Given the description of an element on the screen output the (x, y) to click on. 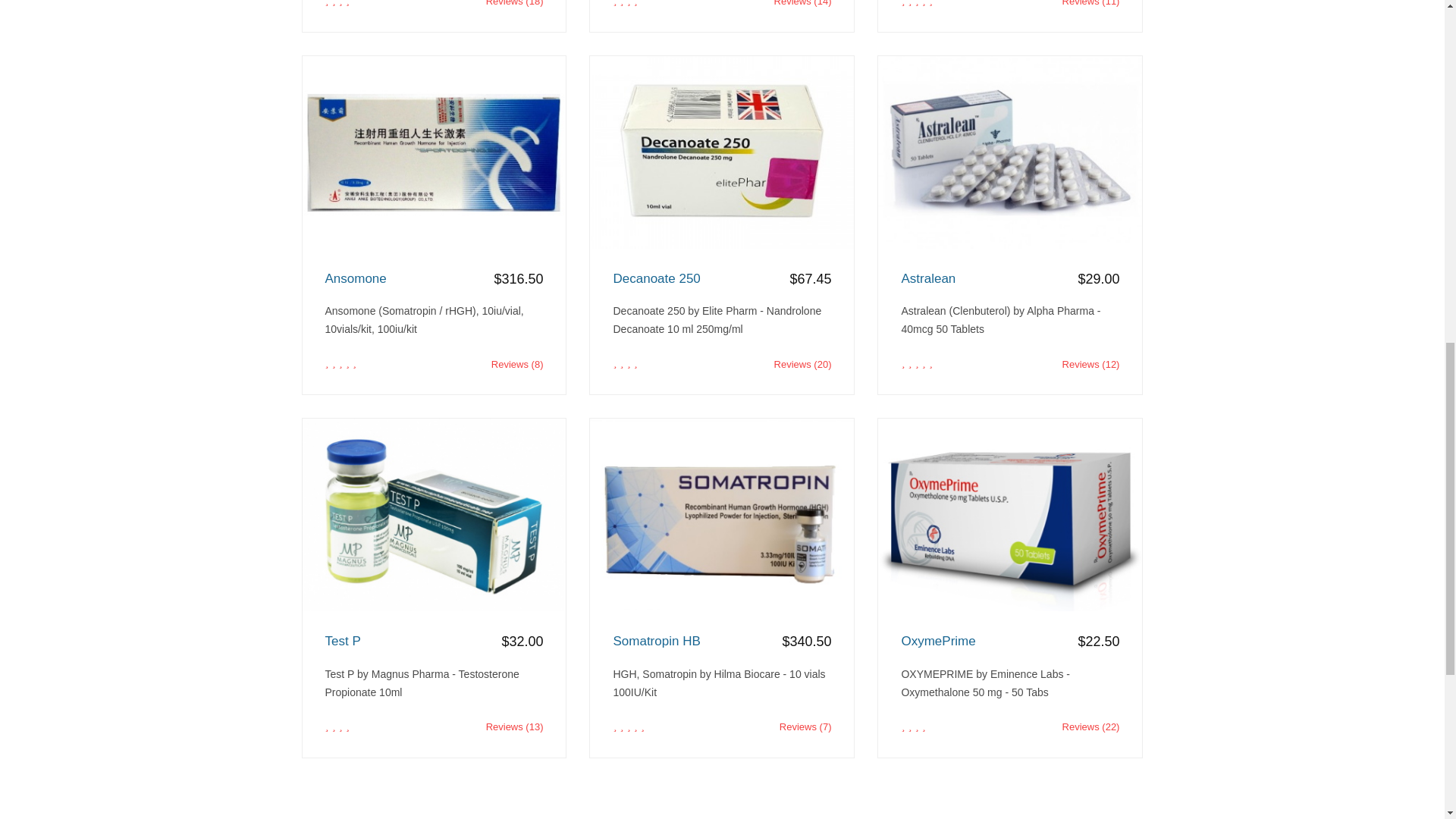
Test P (433, 641)
Astralean (1010, 278)
Ansomone (433, 278)
OxymePrime (1010, 641)
Decanoate 250 (721, 278)
Somatropin HB (721, 641)
